Given the description of an element on the screen output the (x, y) to click on. 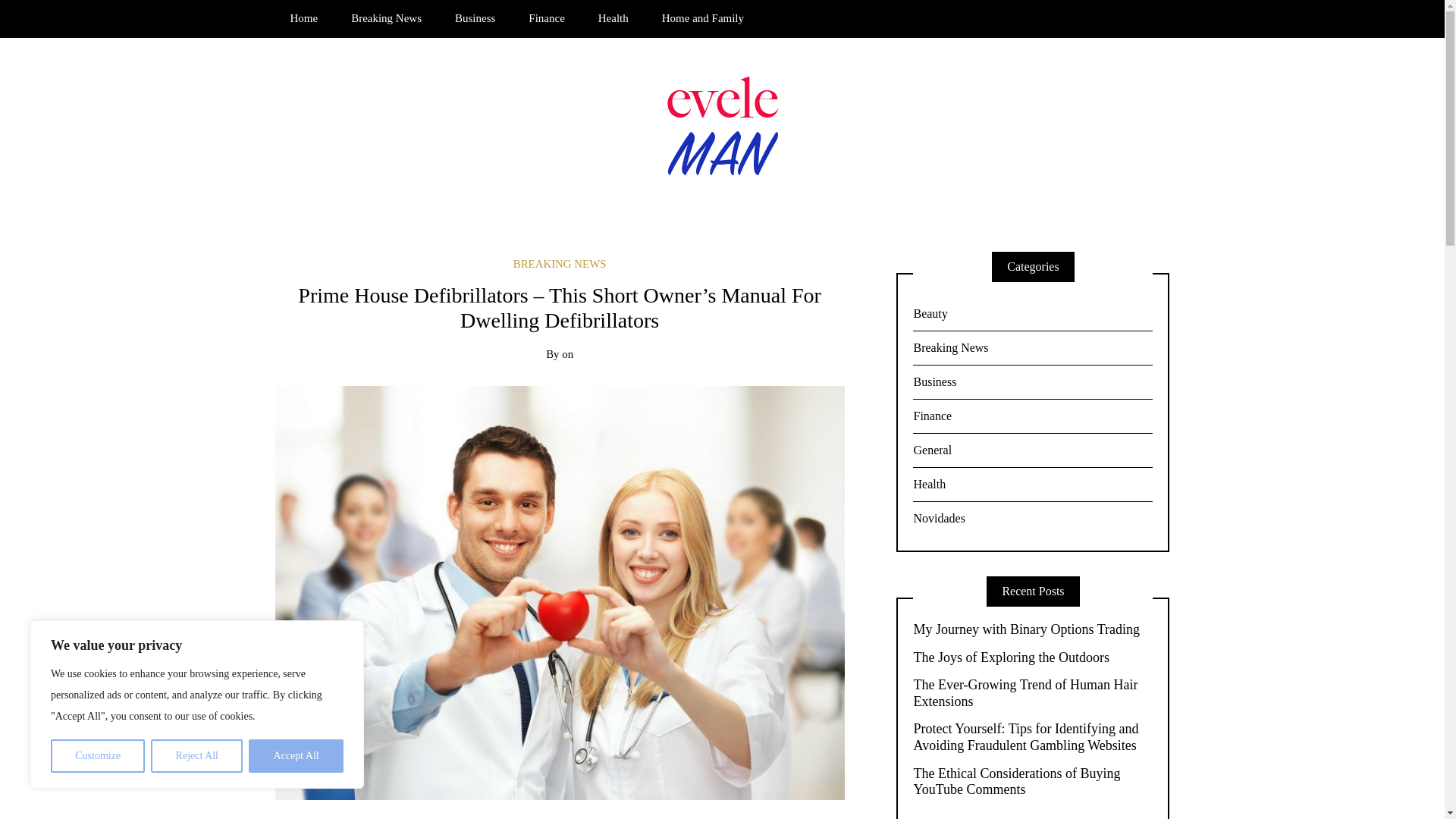
Breaking News (386, 18)
Reject All (197, 756)
Finance (546, 18)
Business (475, 18)
BREAKING NEWS (560, 263)
Accept All (295, 756)
Home (304, 18)
Customize (97, 756)
Home and Family (702, 18)
Health (613, 18)
